Given the description of an element on the screen output the (x, y) to click on. 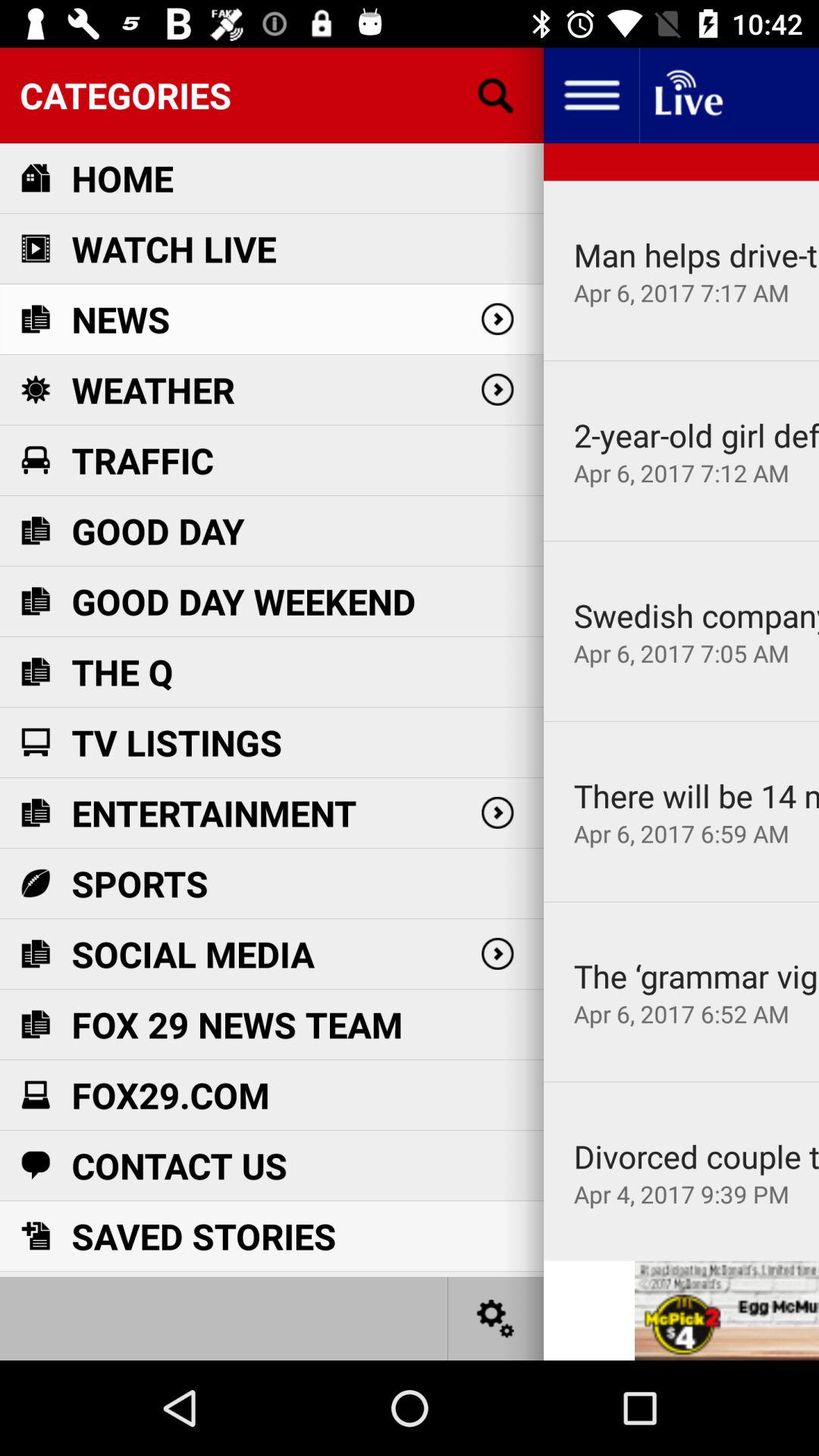
button image (495, 1318)
